Given the description of an element on the screen output the (x, y) to click on. 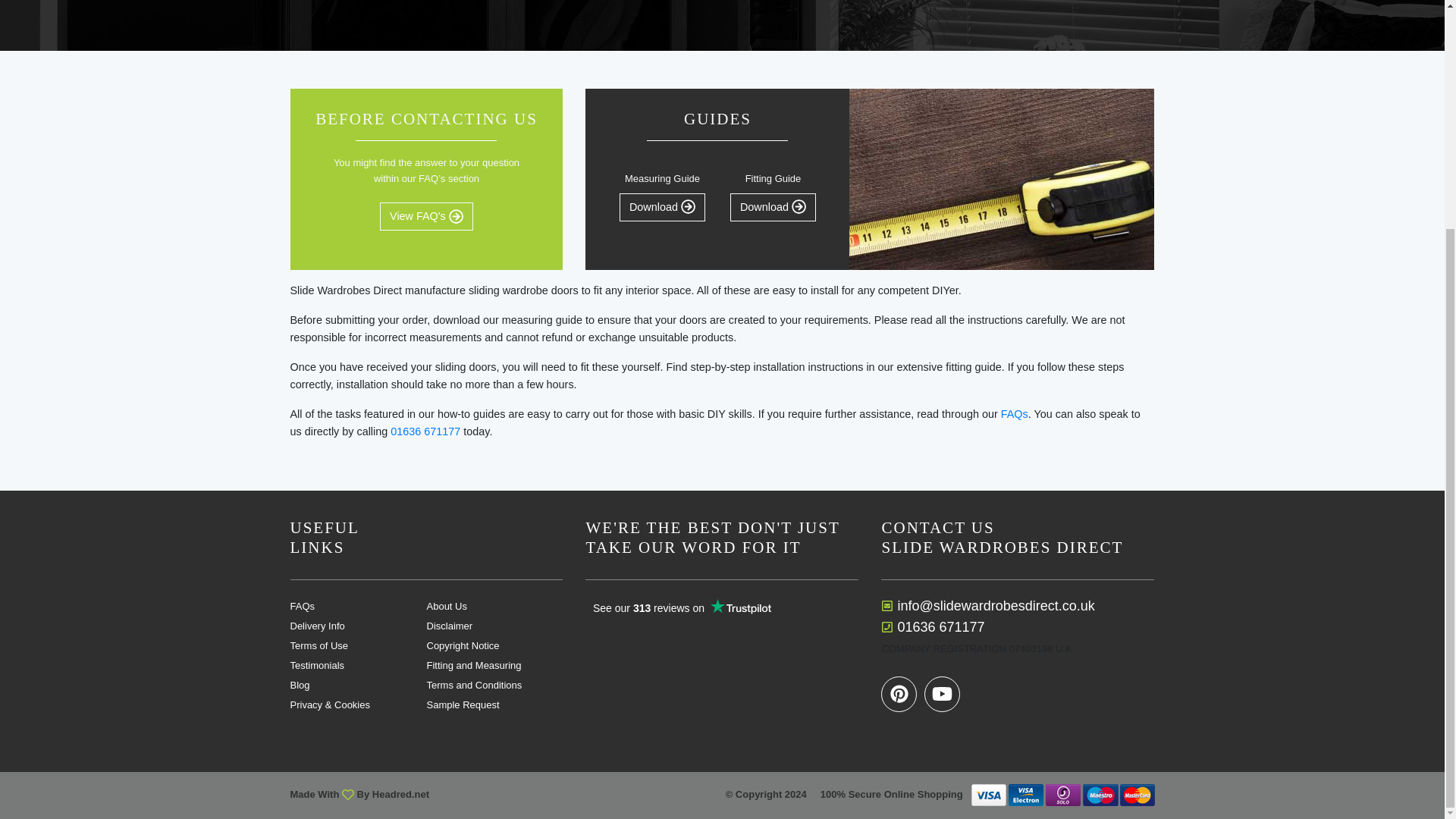
About Us (494, 605)
01636 671177 (940, 626)
Fitting and Measuring (494, 665)
Delivery Info (357, 625)
FAQs (357, 605)
View FAQ's (426, 216)
Copyright Notice (494, 645)
Our Youtube (941, 693)
Sample Request (494, 705)
Download (772, 207)
